Given the description of an element on the screen output the (x, y) to click on. 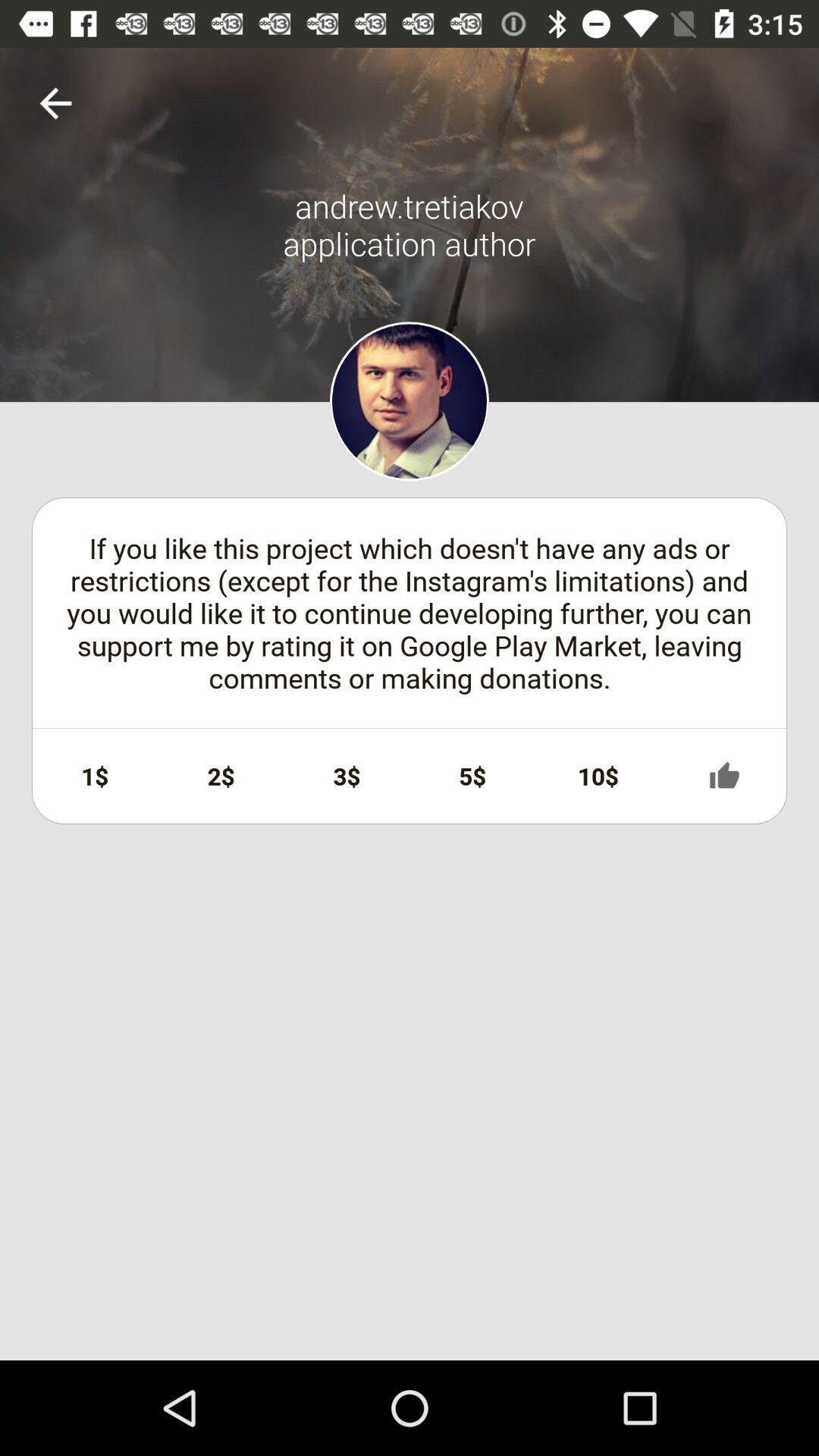
press the 5$ item (472, 776)
